Given the description of an element on the screen output the (x, y) to click on. 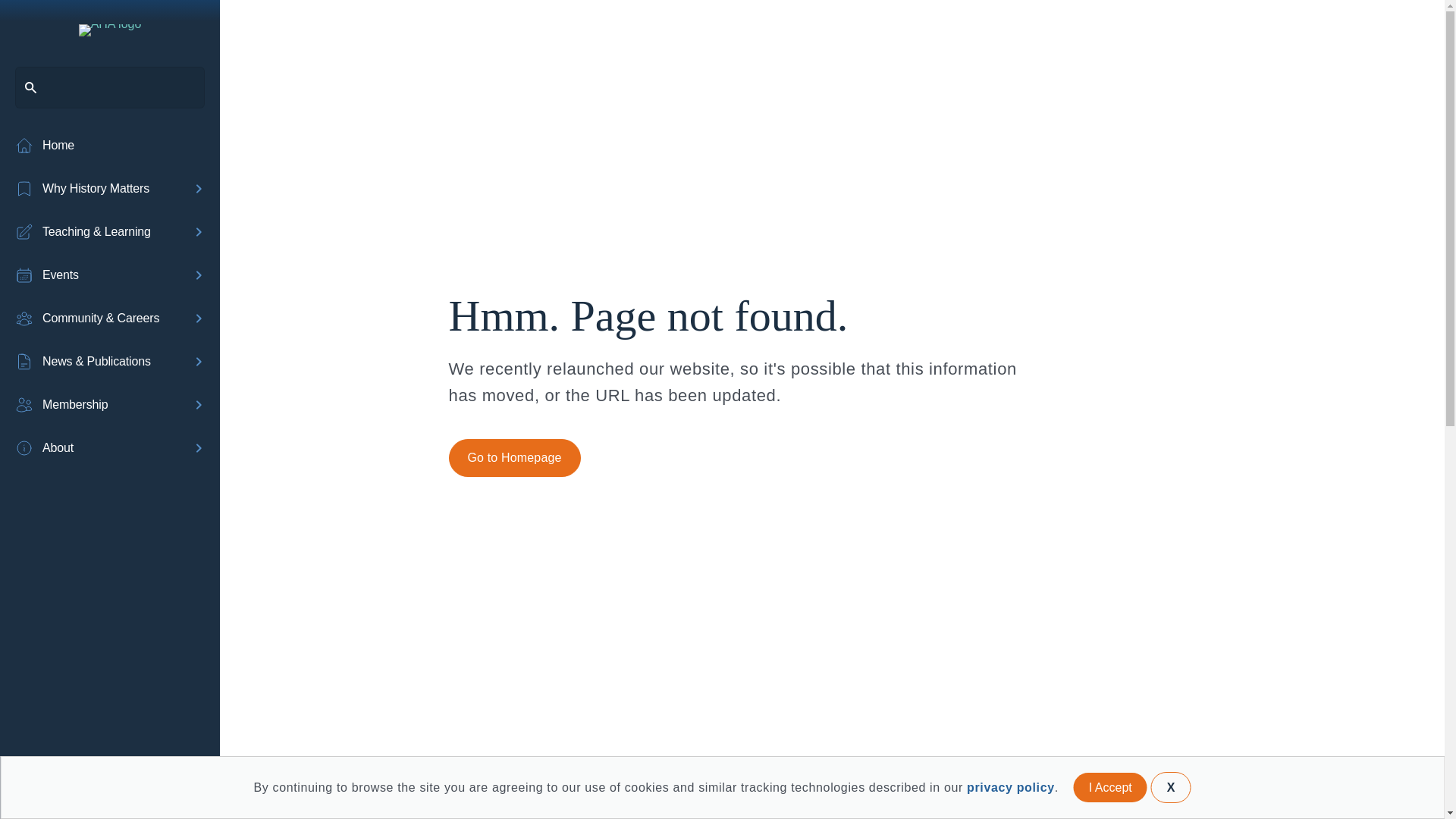
I Accept (1110, 787)
Home (109, 145)
Search (38, 18)
Why History Matters (98, 188)
privacy policy (1010, 787)
AHA-logo (109, 30)
Events (98, 274)
X (1171, 787)
